Given the description of an element on the screen output the (x, y) to click on. 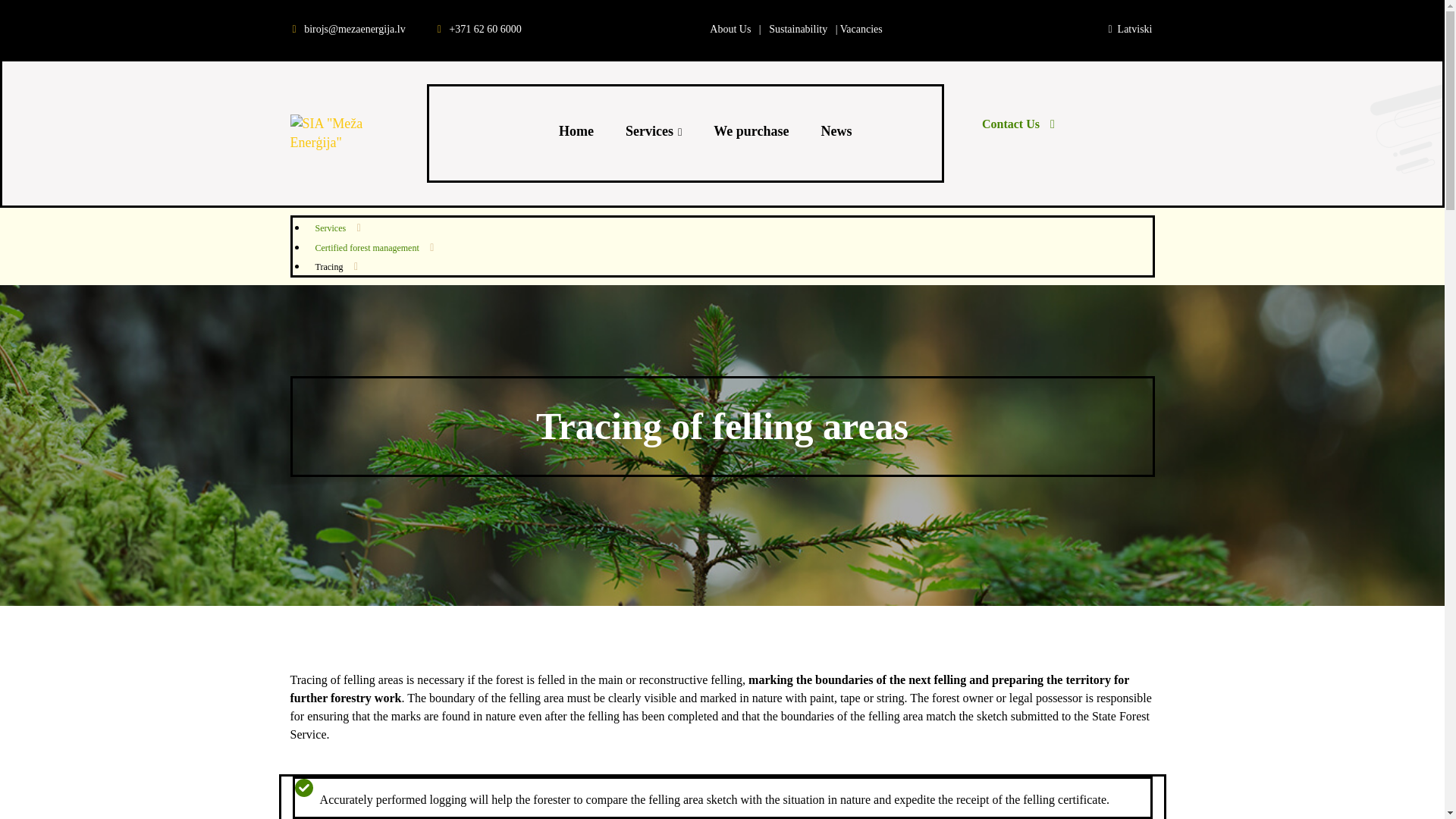
Home (576, 131)
Services (730, 226)
Tracing (730, 265)
Services (653, 131)
Services (330, 227)
Certified forest management (367, 247)
Certified forest management (367, 247)
News (835, 131)
We purchase (750, 131)
Vacancies (861, 29)
